Given the description of an element on the screen output the (x, y) to click on. 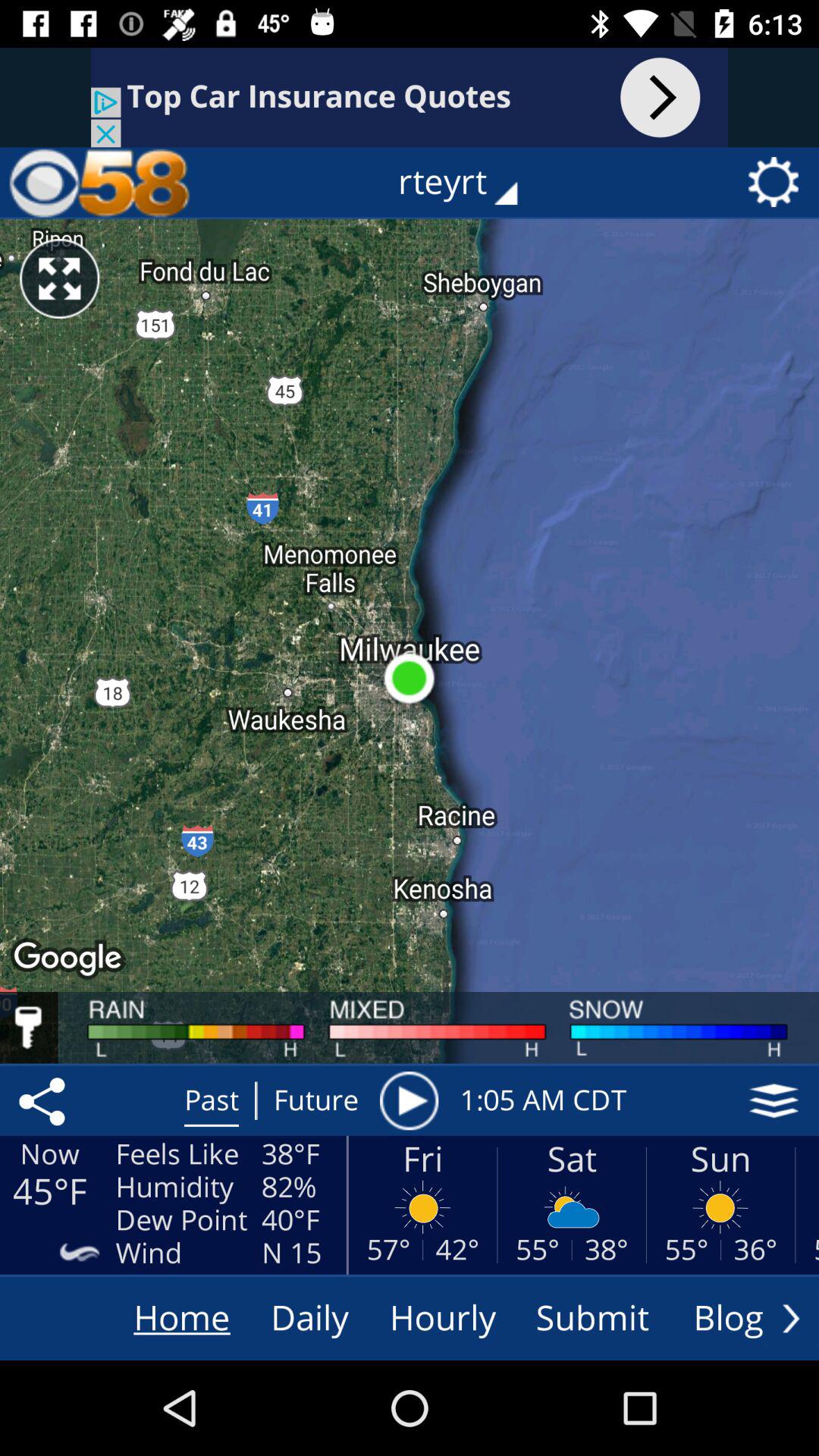
select the item to the right of the future item (409, 1100)
